Given the description of an element on the screen output the (x, y) to click on. 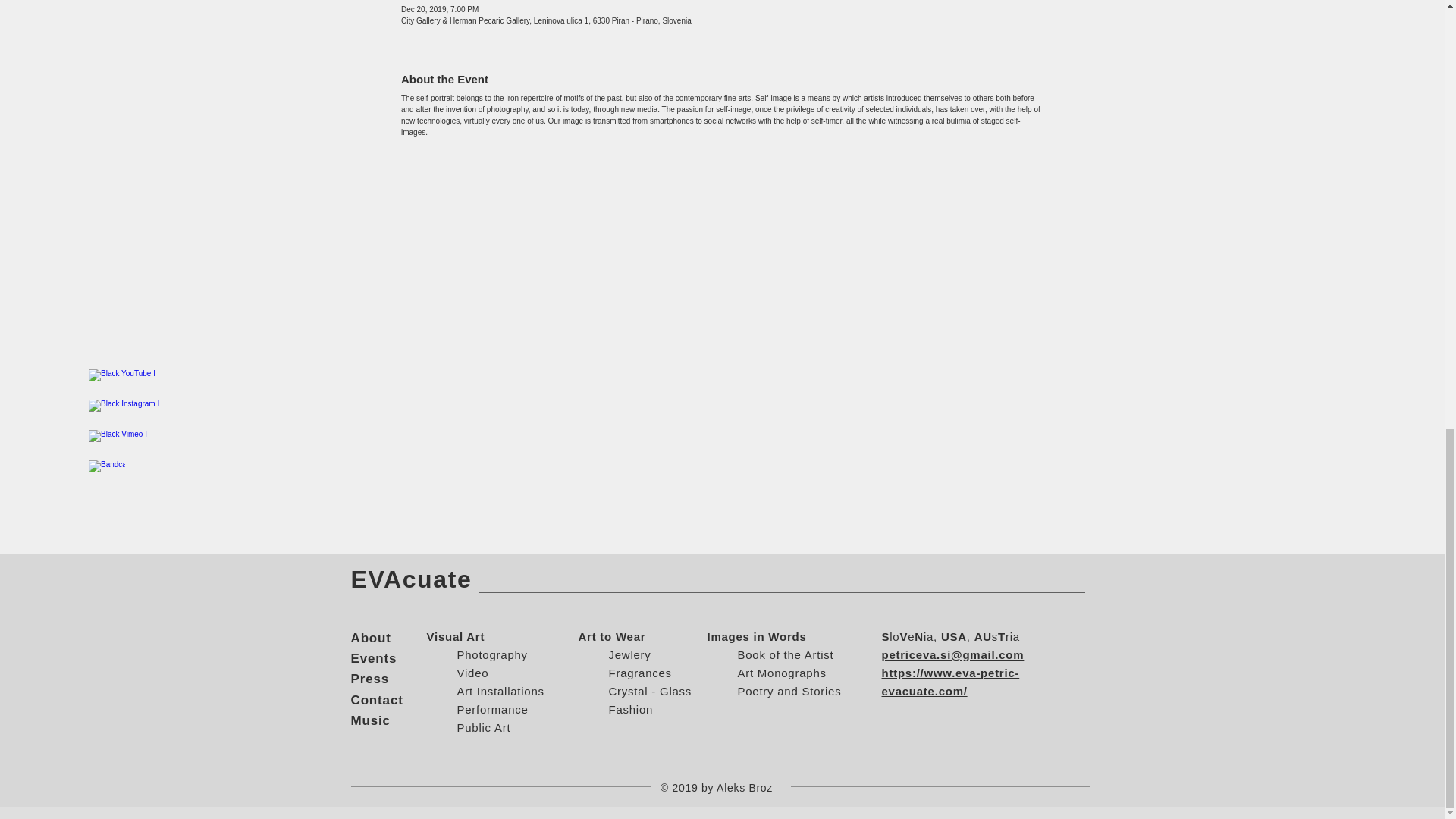
Photography (492, 654)
Events (373, 658)
Visual Art (455, 635)
Video (472, 672)
Jewlery (629, 654)
Art to Wear (611, 635)
Fashion (630, 708)
About (370, 637)
Book of the Artist (784, 654)
Images in Words (756, 635)
